Given the description of an element on the screen output the (x, y) to click on. 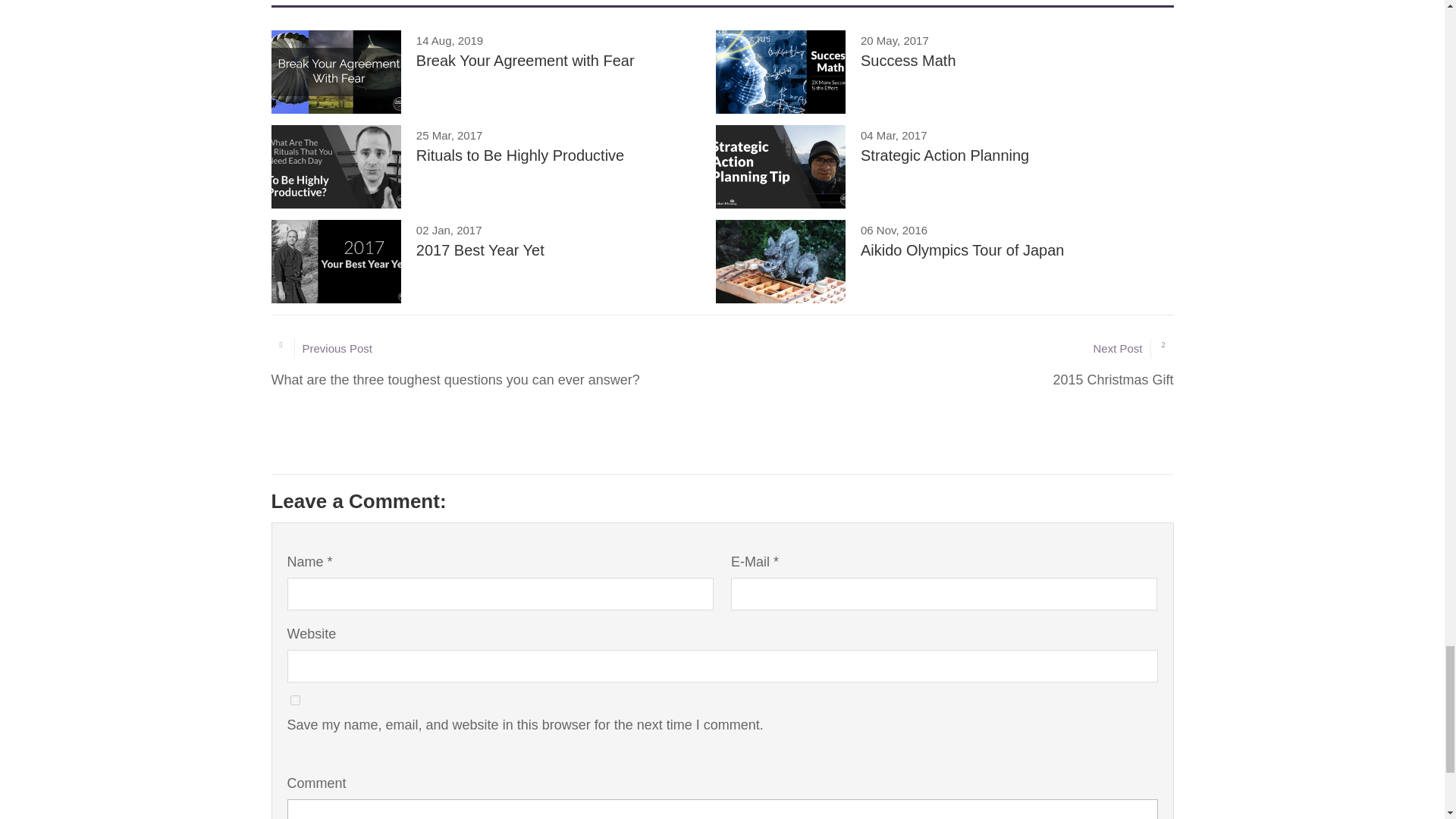
yes (487, 71)
